Given the description of an element on the screen output the (x, y) to click on. 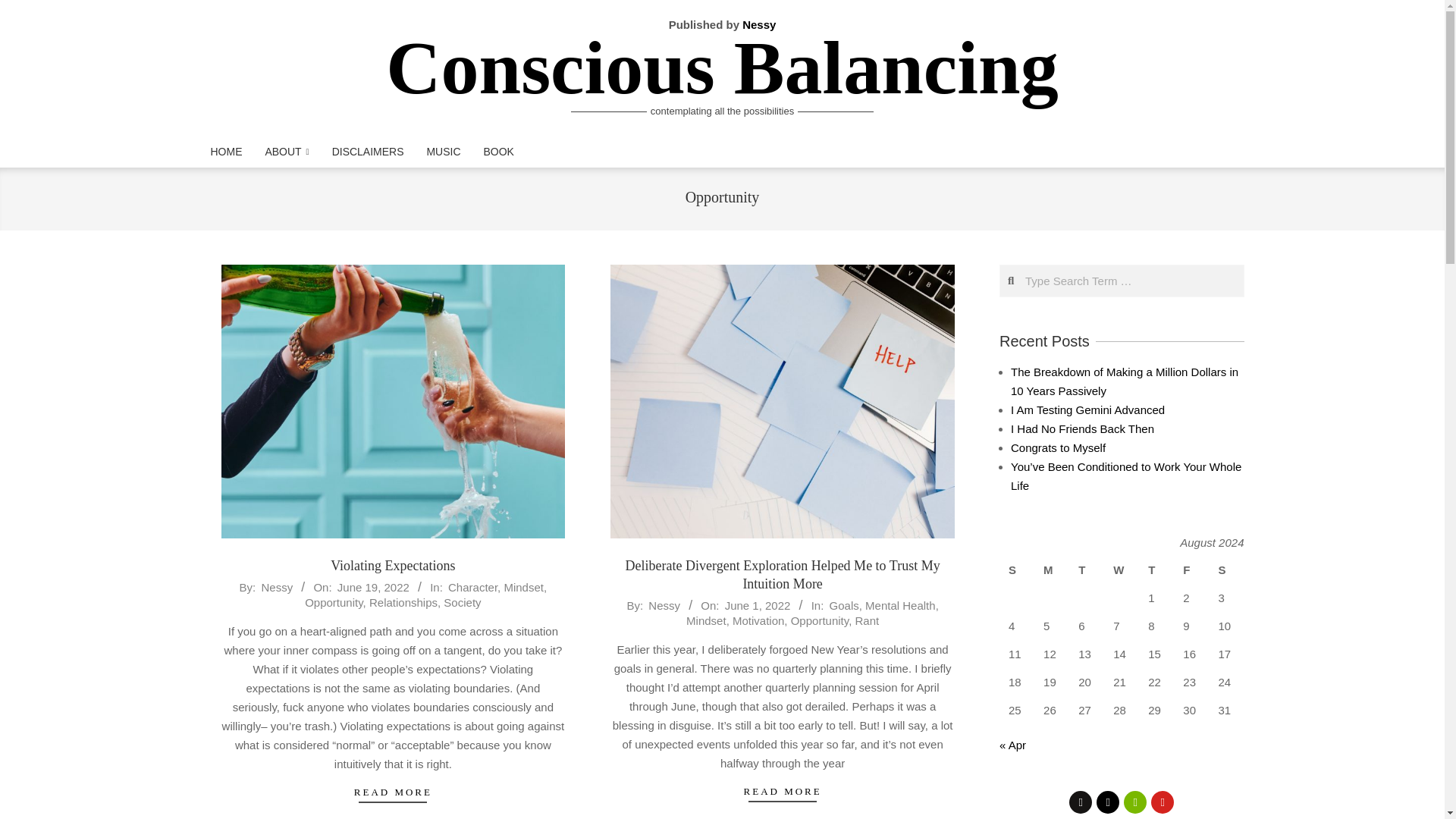
Opportunity (819, 620)
Motivation (758, 620)
Posts by Nessy (663, 604)
Relationships (403, 602)
Character (472, 586)
Rant (866, 620)
Mindset (705, 620)
Mindset (523, 586)
Opportunity (333, 602)
